Given the description of an element on the screen output the (x, y) to click on. 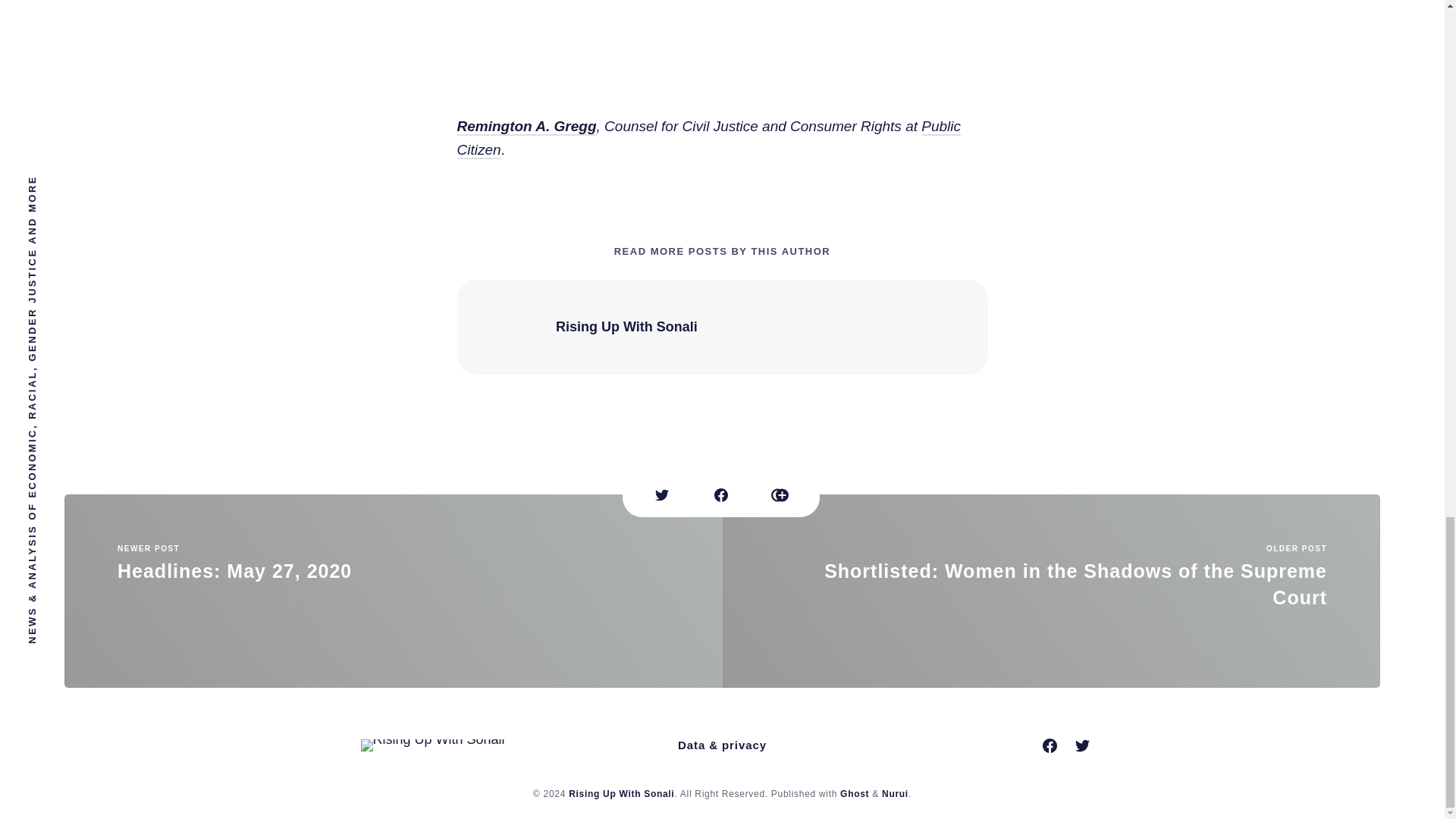
Ghost (854, 792)
Nurui (393, 588)
Public Citizen (895, 792)
Remington A. Gregg (708, 136)
Rising Up With Sonali (526, 124)
Rising Up With Sonali (621, 792)
